Given the description of an element on the screen output the (x, y) to click on. 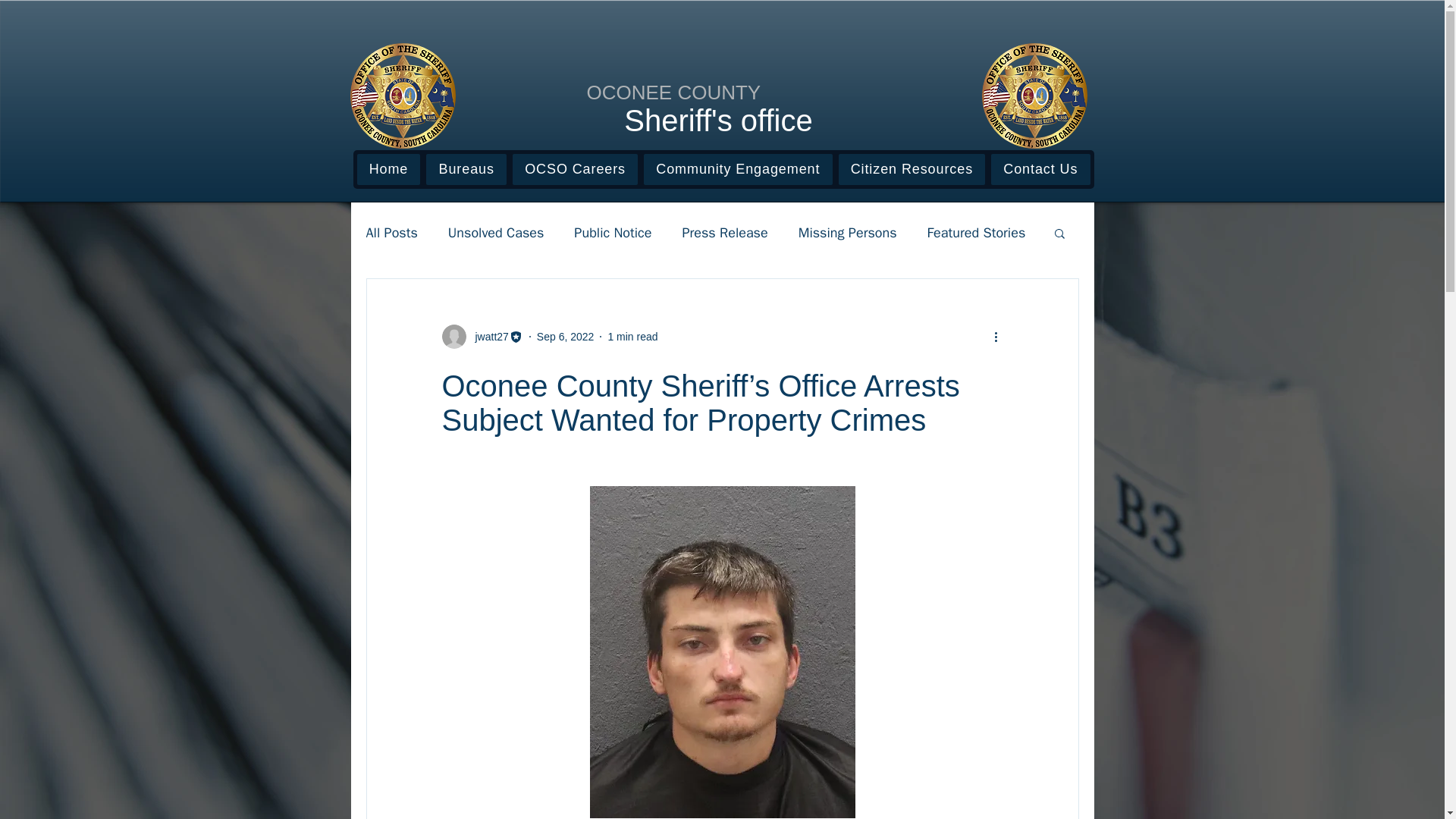
Sheriff's office (718, 120)
OCSO Careers (574, 169)
OCONEE COUNTY (673, 92)
Public Notice (611, 232)
1 min read (632, 336)
All Posts (390, 232)
Sep 6, 2022 (565, 336)
Home (388, 169)
Unsolved Cases (496, 232)
jwatt27 (486, 336)
